Given the description of an element on the screen output the (x, y) to click on. 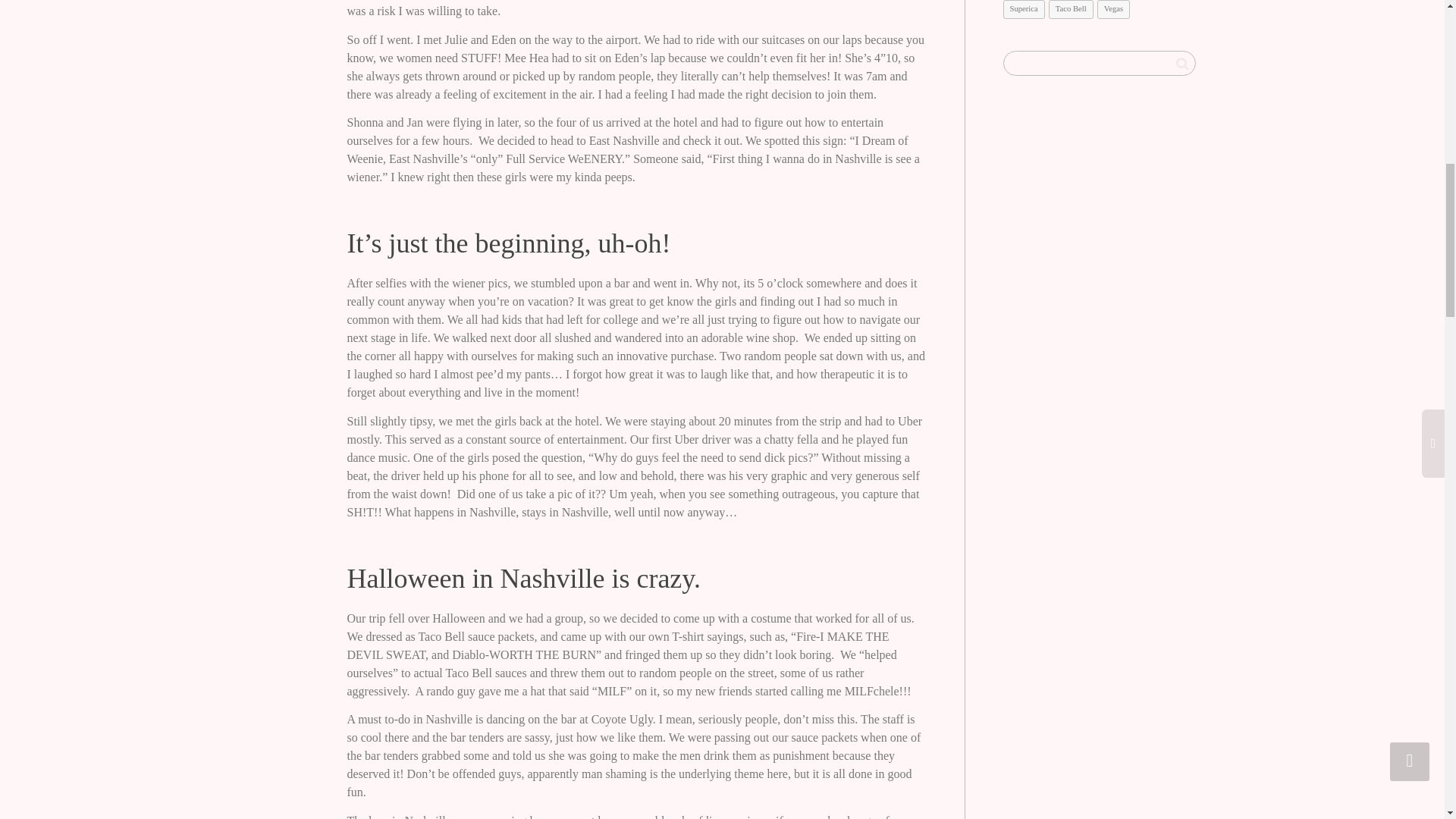
Search (1181, 63)
Search (1181, 63)
